Given the description of an element on the screen output the (x, y) to click on. 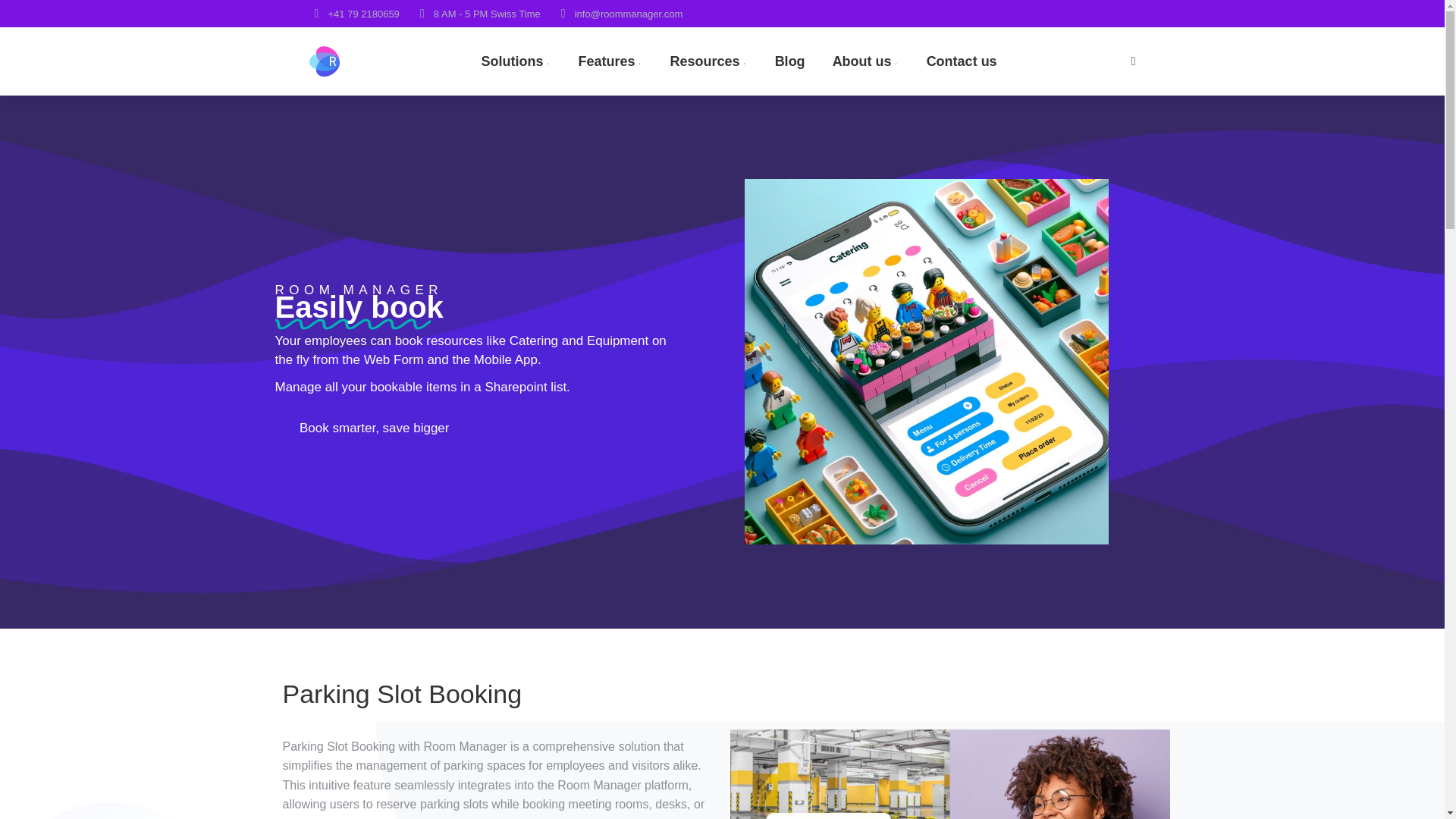
Resources (708, 60)
About us (865, 60)
Features (610, 60)
Blog (789, 60)
Contact us (961, 60)
Solutions (516, 60)
